Given the description of an element on the screen output the (x, y) to click on. 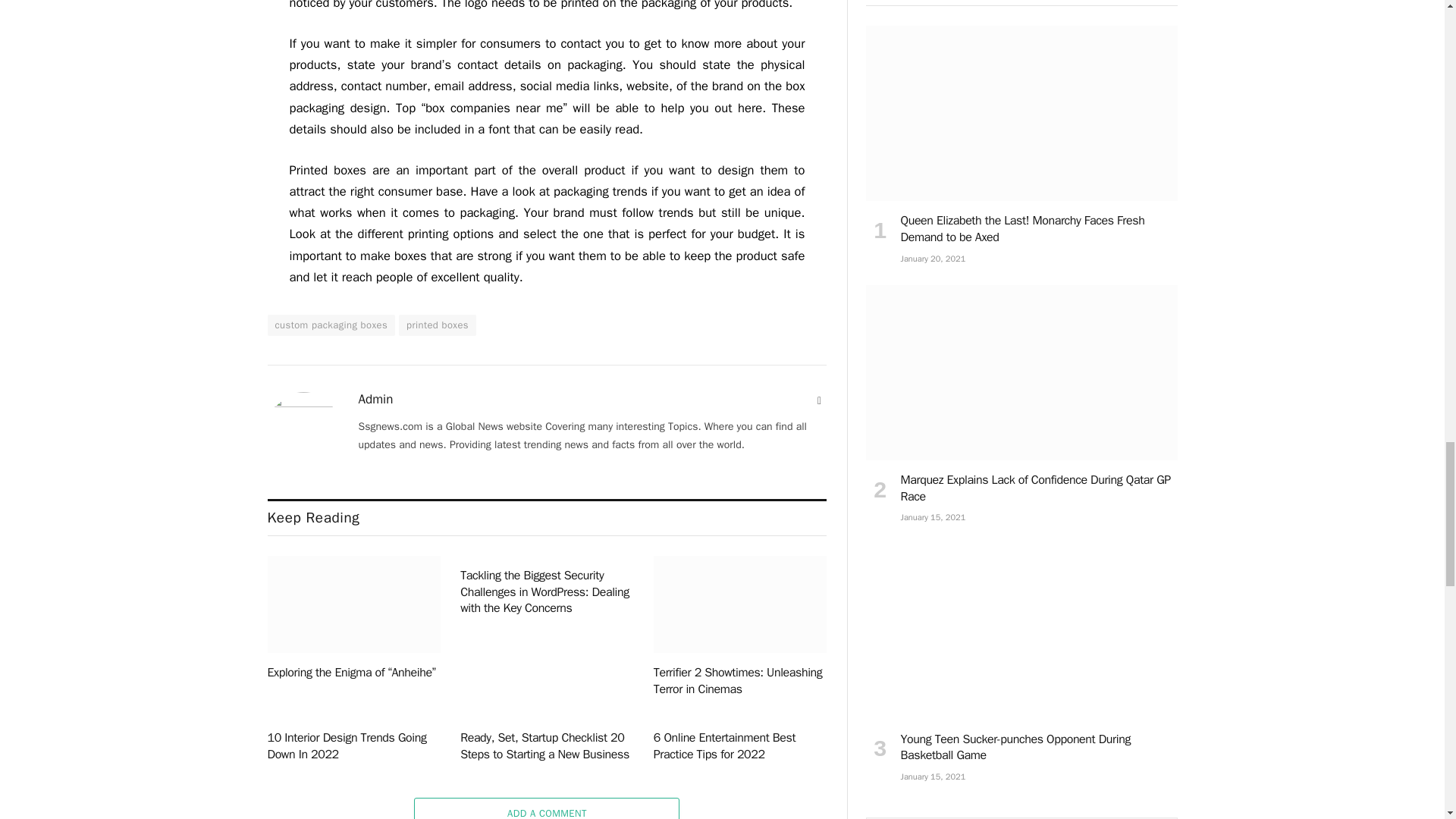
Website (818, 400)
Posts by Admin (375, 399)
